Given the description of an element on the screen output the (x, y) to click on. 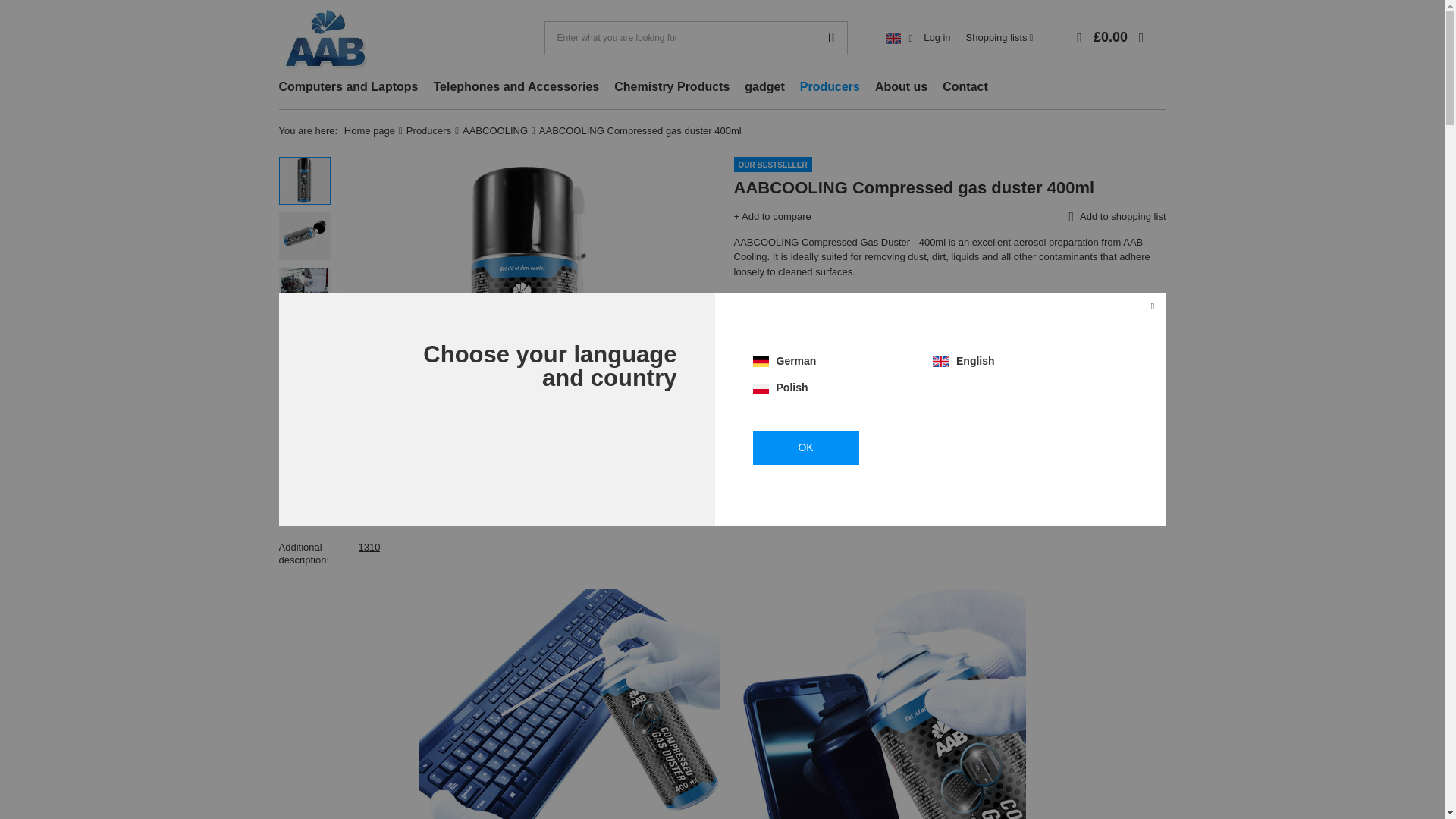
Shopping lists (999, 37)
Computers and Laptops (348, 88)
Computers and Laptops (348, 88)
Log in (936, 38)
